Given the description of an element on the screen output the (x, y) to click on. 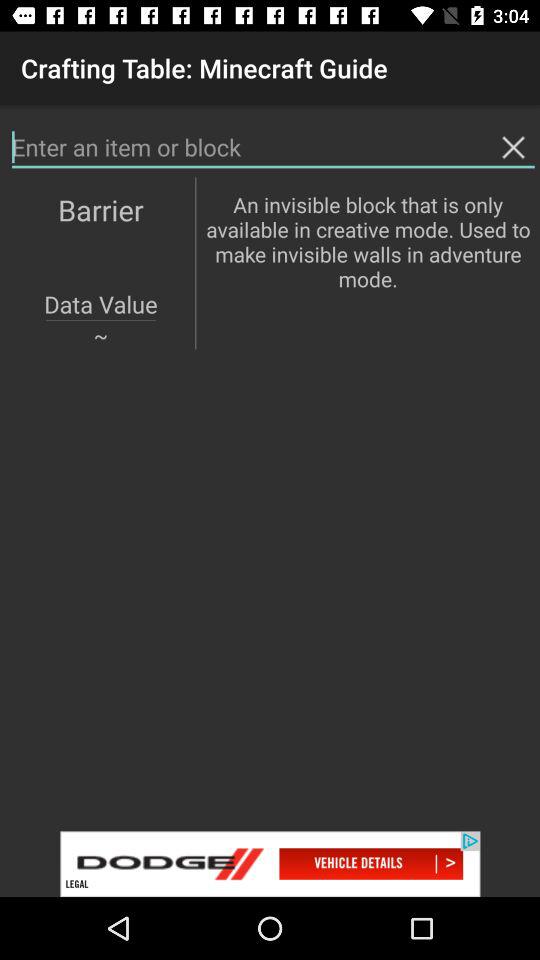
close (513, 147)
